Given the description of an element on the screen output the (x, y) to click on. 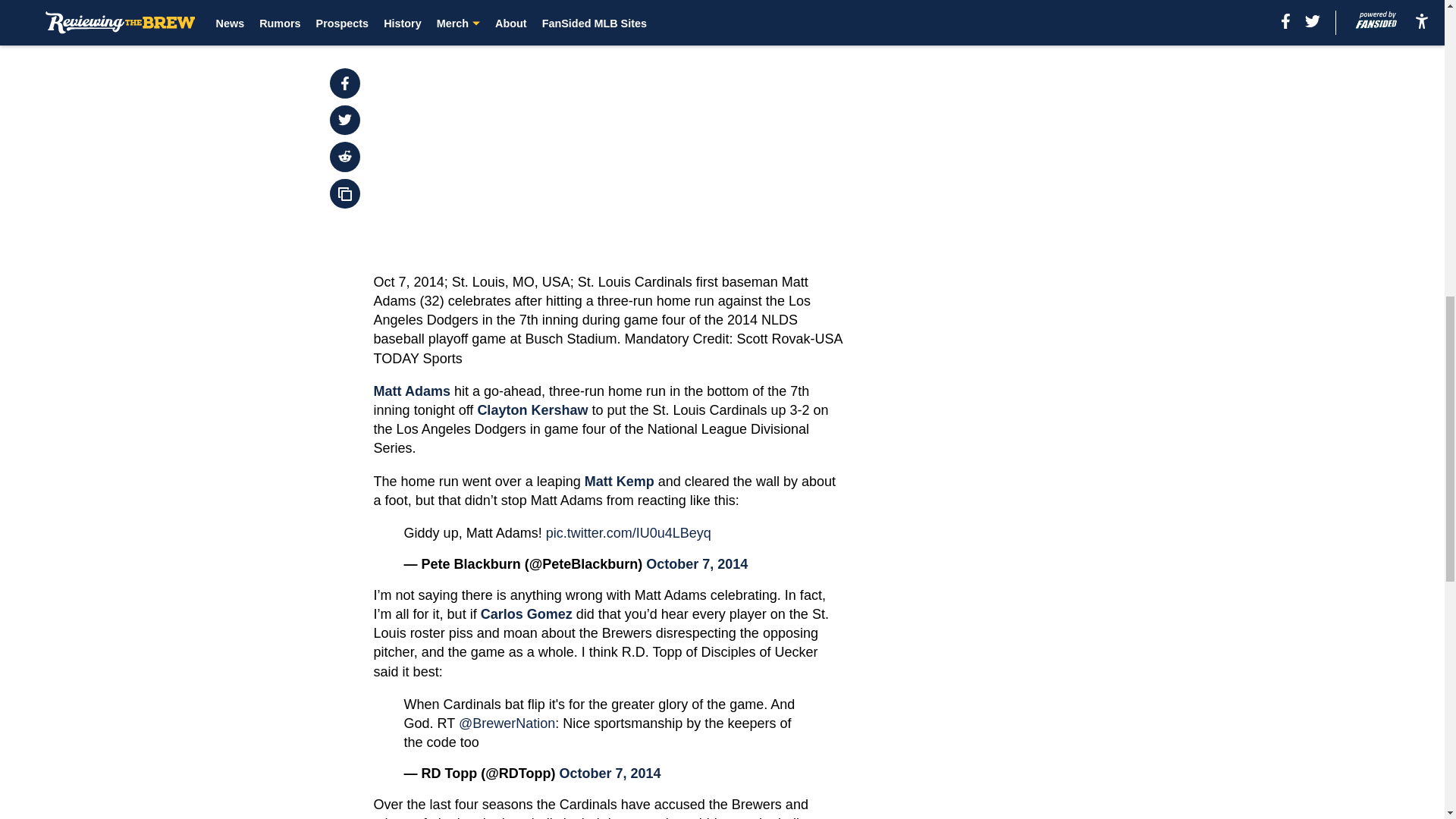
October 7, 2014 (610, 773)
Clayton Kershaw (532, 409)
Matt Kemp (619, 481)
Matt Adams (411, 391)
October 7, 2014 (697, 563)
Carlos Gomez (526, 613)
